Given the description of an element on the screen output the (x, y) to click on. 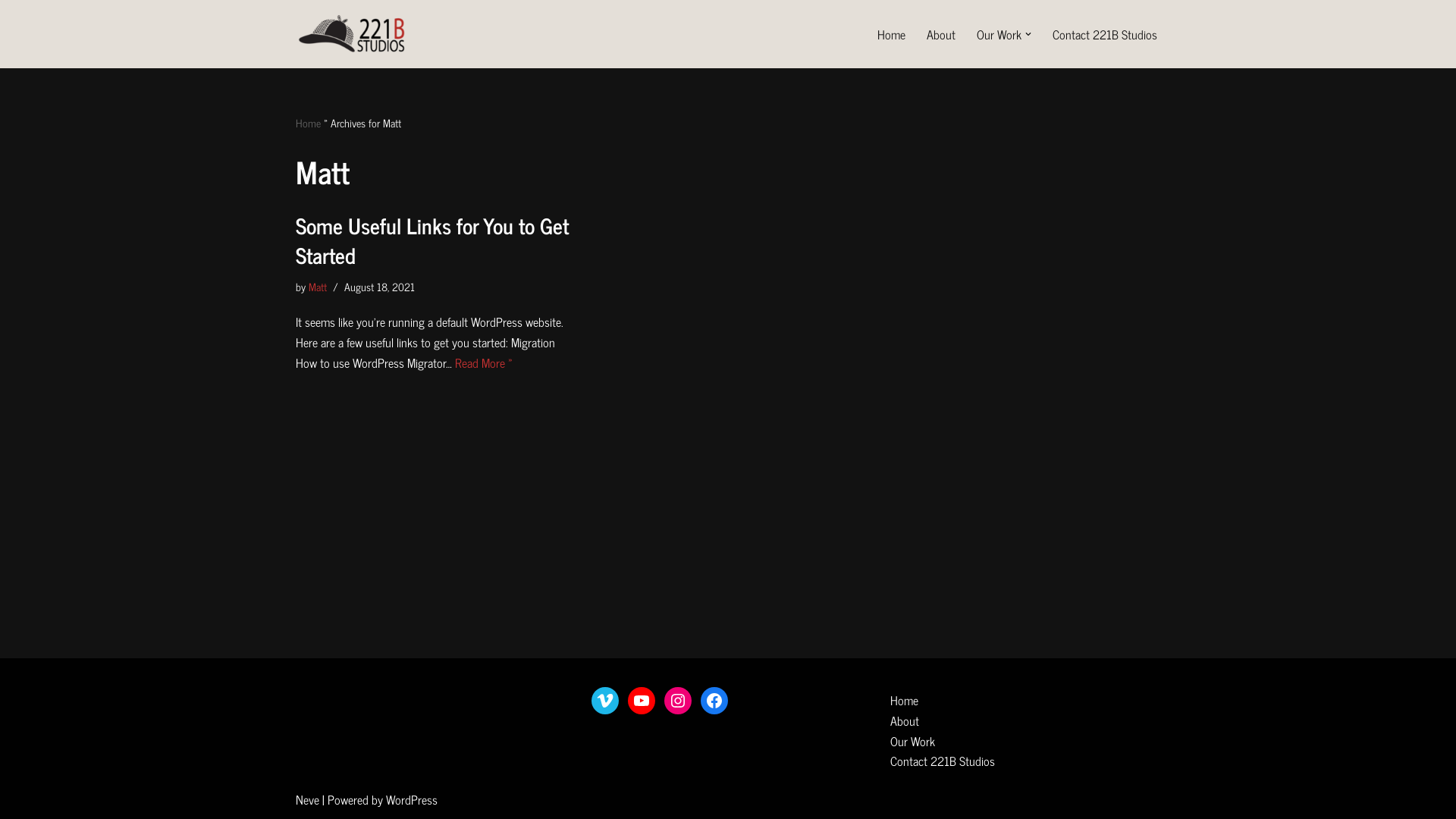
Contact 221B Studios Element type: text (942, 760)
Home Element type: text (942, 700)
Some Useful Links for You to Get Started Element type: text (431, 239)
About Element type: text (940, 34)
Contact 221B Studios Element type: text (1104, 34)
Our Work Element type: text (998, 34)
Skip to content Element type: text (11, 31)
Home Element type: text (307, 122)
Home Element type: text (891, 34)
About Element type: text (942, 720)
Our Work Element type: text (942, 741)
WordPress Element type: text (411, 799)
Matt Element type: text (317, 286)
Neve Element type: text (307, 799)
